Given the description of an element on the screen output the (x, y) to click on. 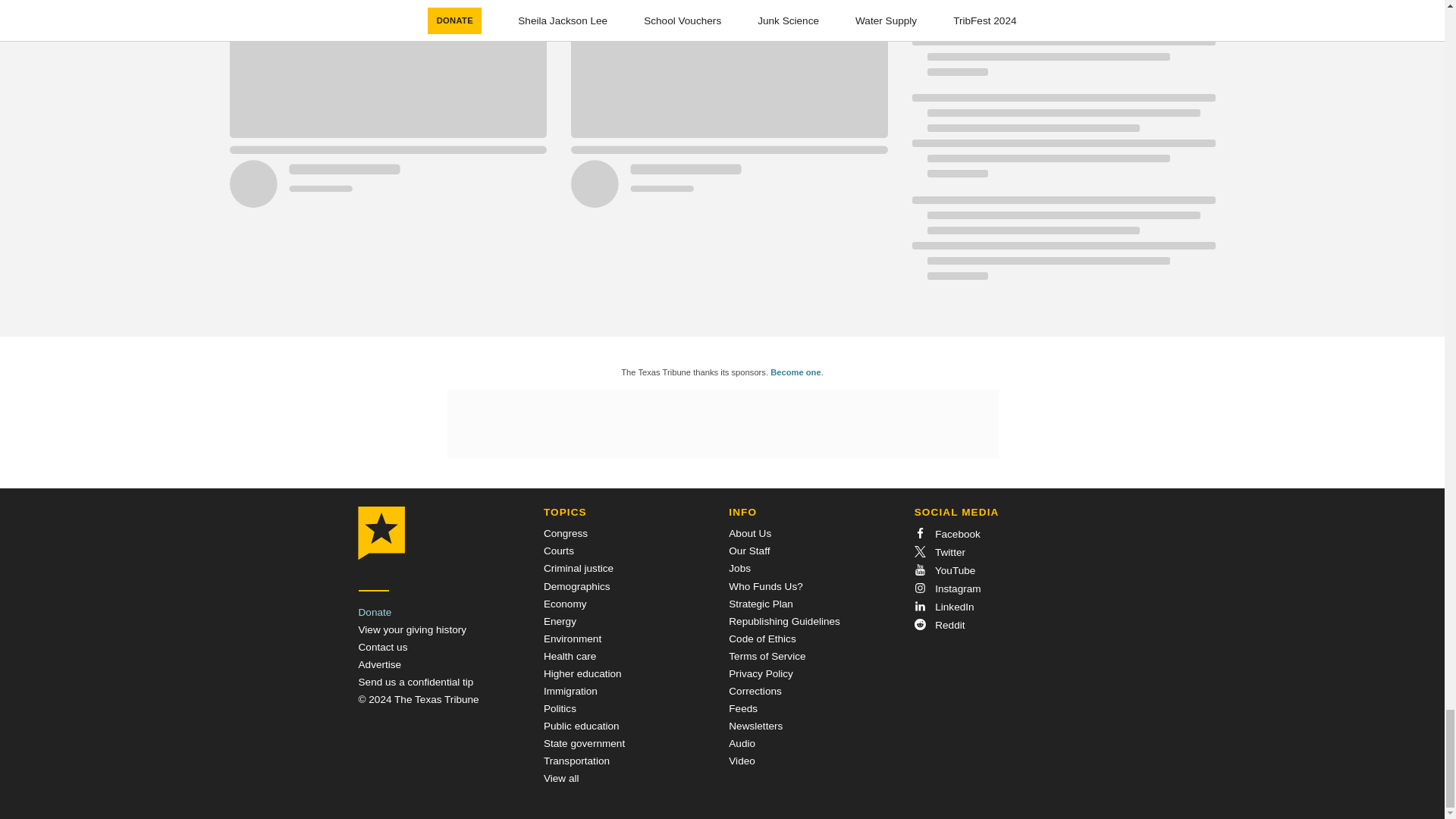
Advertise (379, 664)
Corrections (755, 690)
Donate (374, 612)
Newsletters (756, 726)
Send a Tip (415, 681)
Republishing Guidelines (784, 621)
Strategic Plan (761, 603)
About Us (750, 532)
Video (742, 760)
Facebook (946, 533)
Code of Ethics (761, 638)
Who Funds Us? (765, 586)
Contact us (382, 646)
Terms of Service (767, 655)
Privacy Policy (761, 673)
